Given the description of an element on the screen output the (x, y) to click on. 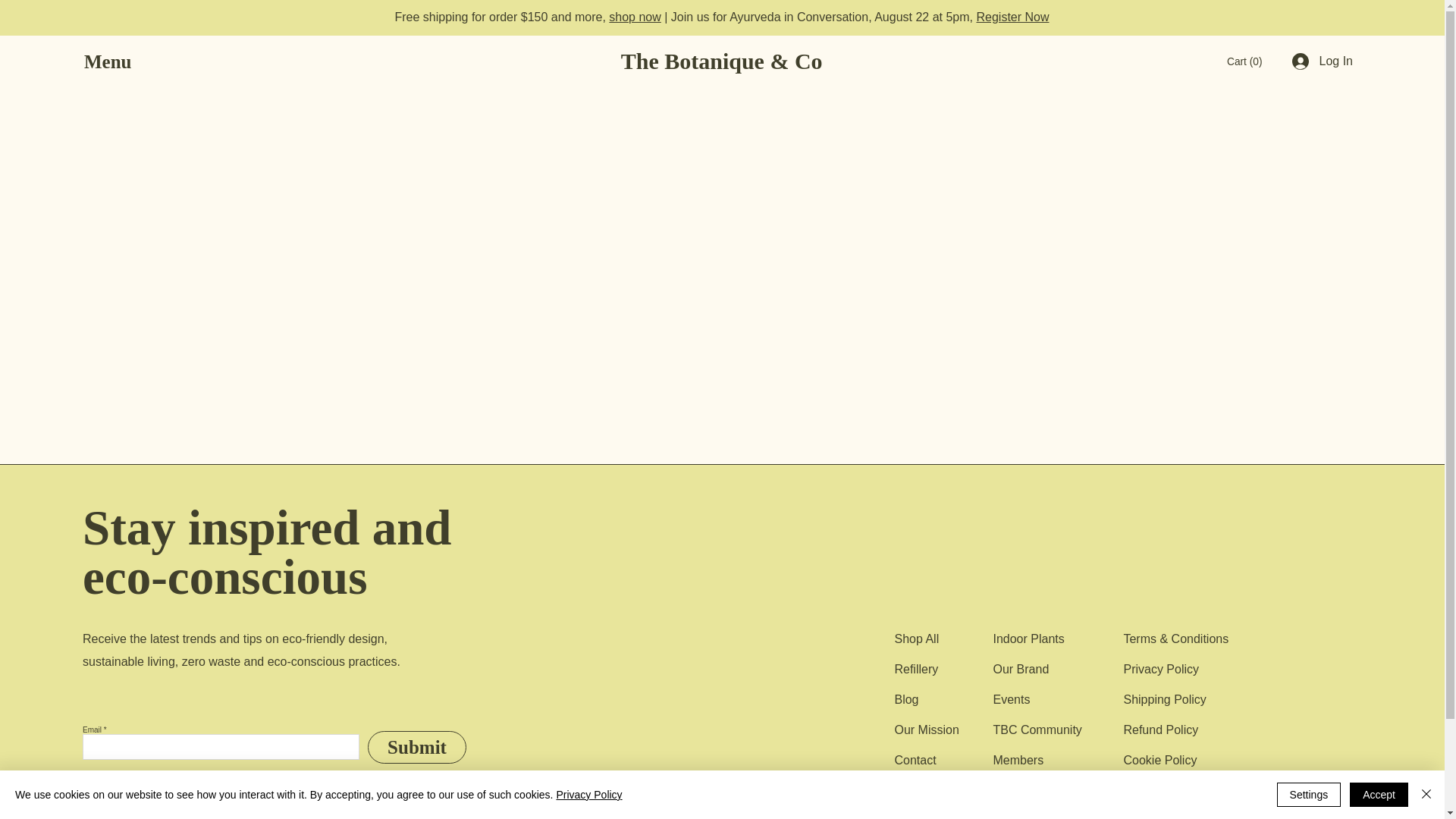
Cookie Policy (1159, 759)
Blog (905, 698)
shop now (634, 16)
Refillery (915, 668)
Settings (1308, 794)
Indoor Plants (1028, 638)
Privacy Policy (1160, 668)
Privacy Policy (588, 794)
Contact (914, 759)
Our Brand (1020, 668)
